Given the description of an element on the screen output the (x, y) to click on. 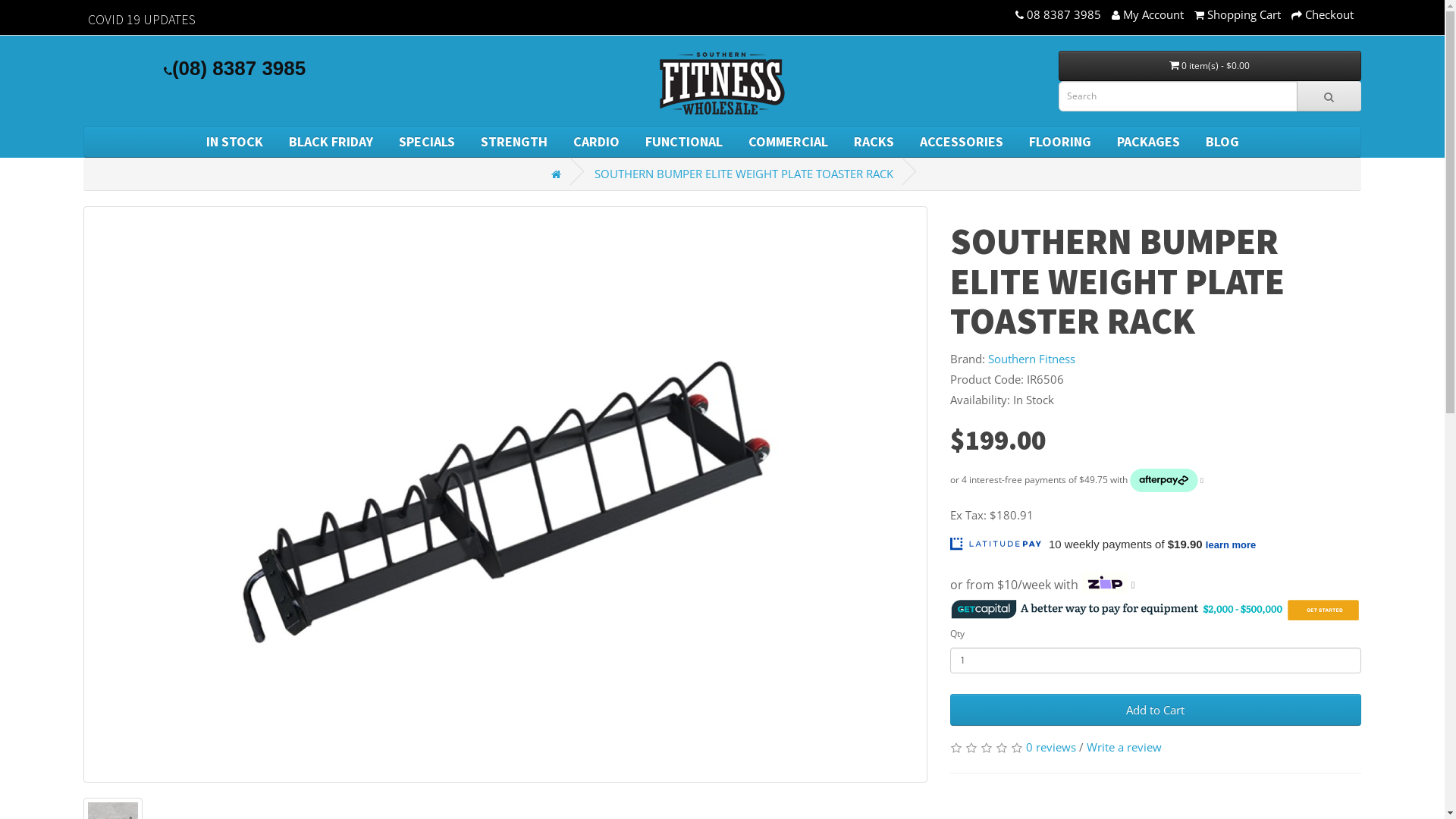
0 reviews Element type: text (1051, 746)
Southern Fitness Wholesale Element type: hover (722, 84)
COMMERCIAL Element type: text (788, 141)
Add to Cart Element type: text (1155, 709)
My Account Element type: text (1147, 13)
BLACK FRIDAY Element type: text (330, 141)
SOUTHERN BUMPER ELITE WEIGHT PLATE TOASTER RACK Element type: text (743, 173)
0 item(s) - $0.00 Element type: text (1209, 65)
SPECIALS Element type: text (425, 141)
FLOORING Element type: text (1059, 141)
IN STOCK Element type: text (233, 141)
Write a review Element type: text (1123, 746)
Shopping Cart Element type: text (1237, 13)
Southern Bumper Elite Weight Plate Toaster Rack Element type: hover (505, 494)
RACKS Element type: text (872, 141)
FUNCTIONAL Element type: text (683, 141)
Southern Bumper Elite Weight Plate Toaster Rack Element type: hover (505, 494)
STRENGTH Element type: text (513, 141)
Checkout Element type: text (1322, 13)
Southern Fitness Element type: text (1031, 358)
ACCESSORIES Element type: text (961, 141)
CARDIO Element type: text (595, 141)
(08) 8387 3985 Element type: text (234, 68)
PACKAGES Element type: text (1148, 141)
COVID 19 UPDATES Element type: text (141, 19)
BLOG Element type: text (1221, 141)
